Given the description of an element on the screen output the (x, y) to click on. 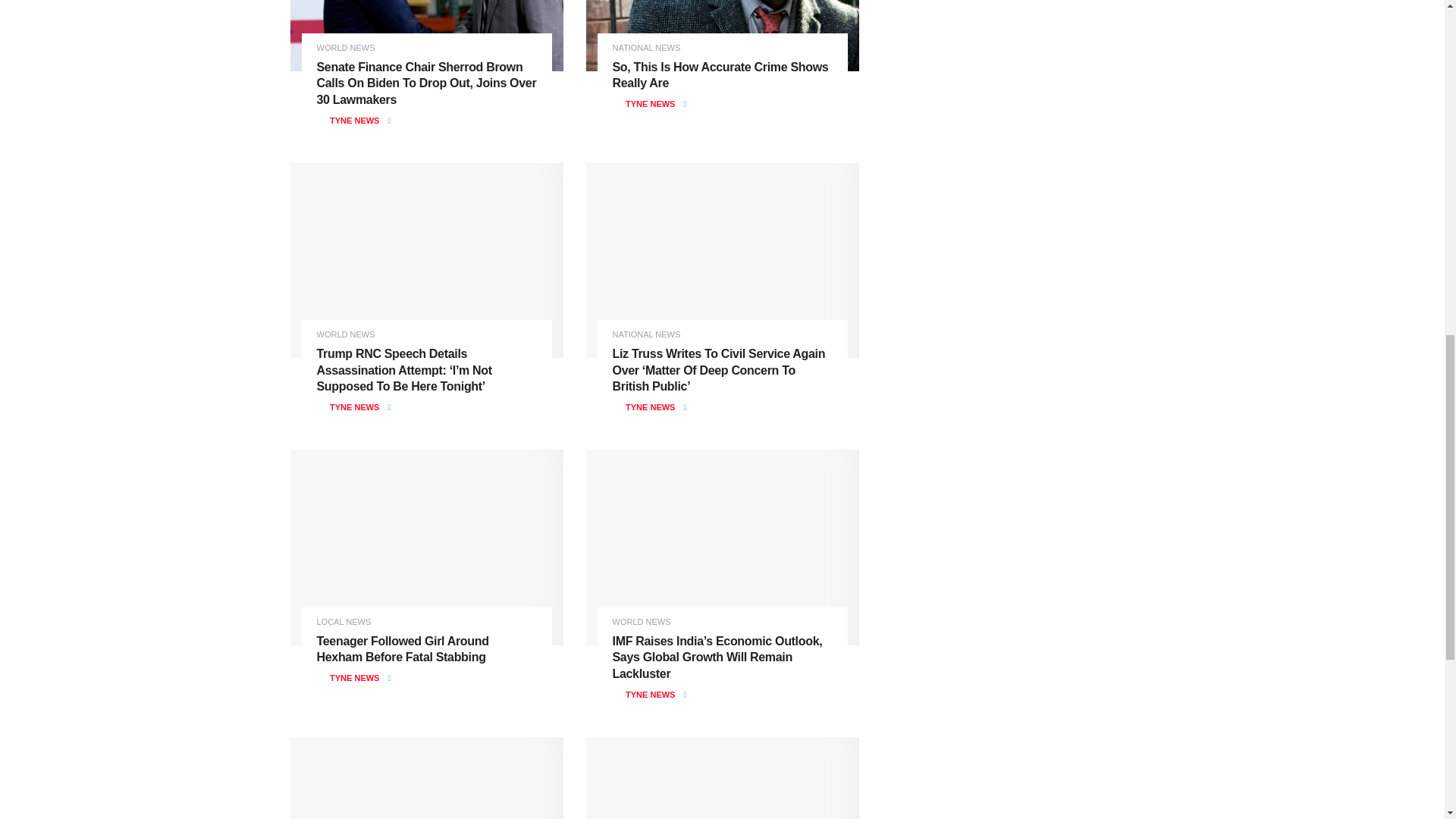
TYNE NEWS (354, 120)
WORLD NEWS (346, 48)
